Given the description of an element on the screen output the (x, y) to click on. 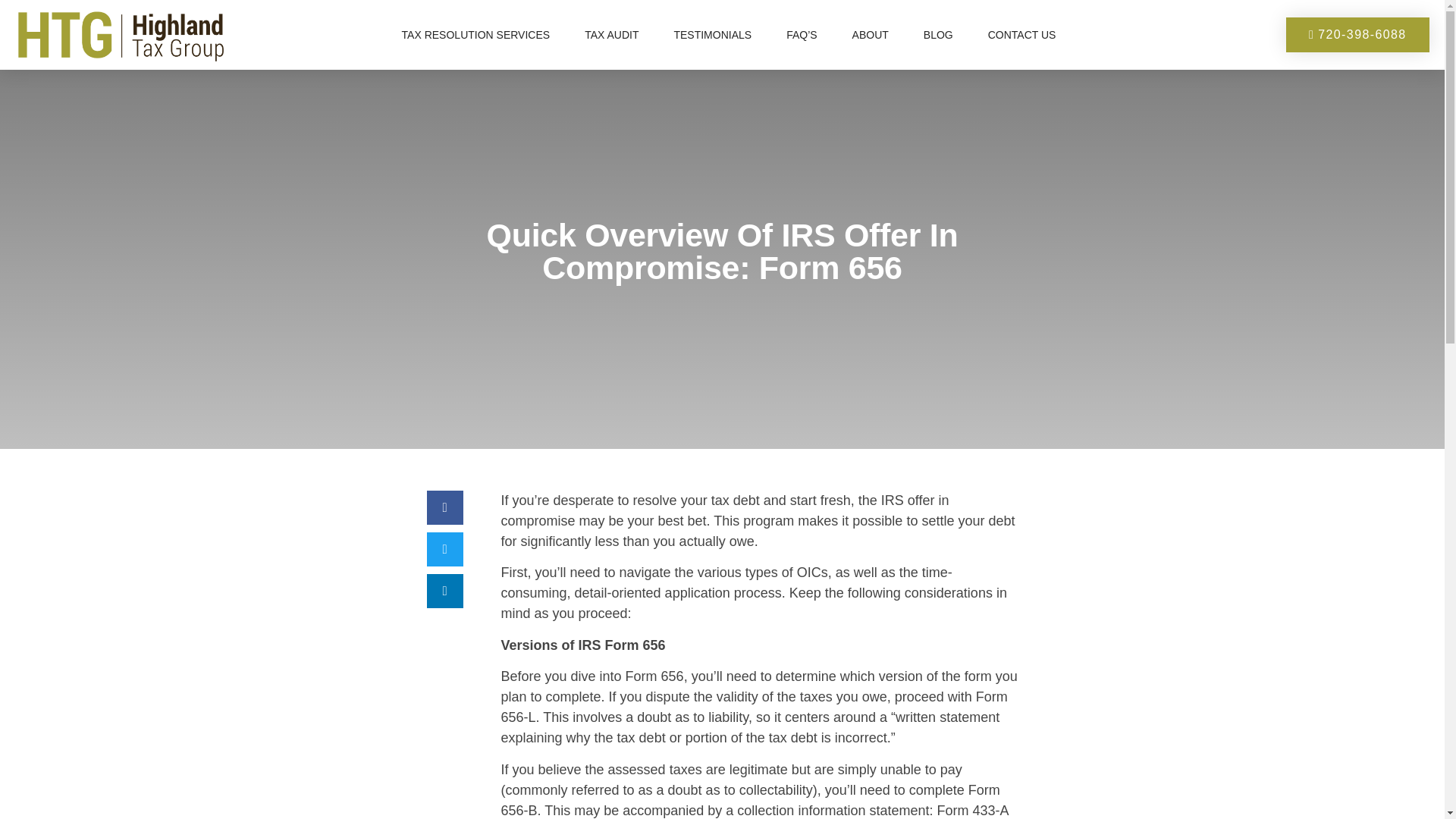
TAX RESOLUTION SERVICES (476, 34)
TESTIMONIALS (712, 34)
ABOUT (870, 34)
CONTACT US (1021, 34)
TAX AUDIT (611, 34)
